Given the description of an element on the screen output the (x, y) to click on. 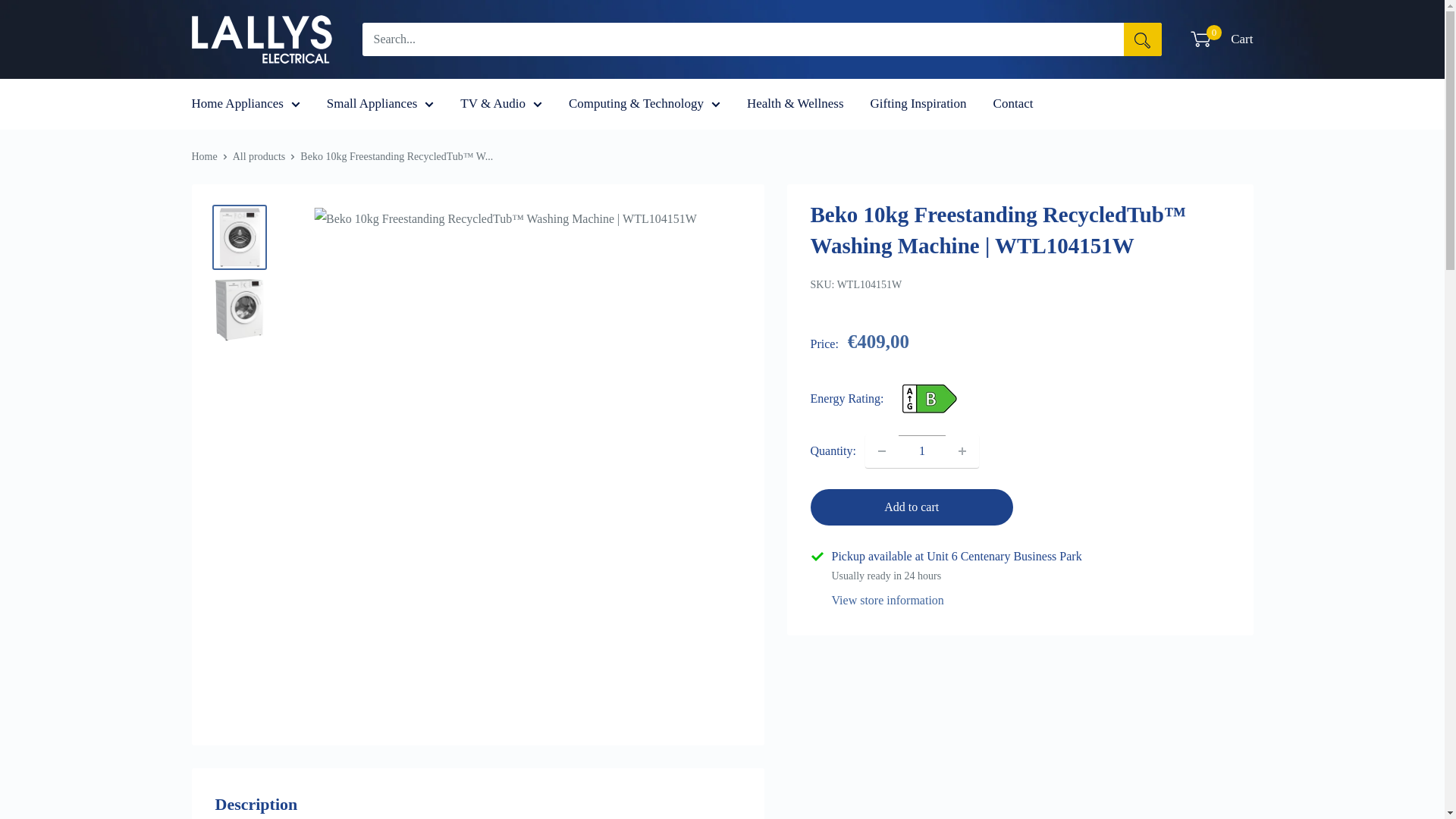
Increase quantity by 1 (962, 450)
1 (922, 450)
Decrease quantity by 1 (882, 450)
